Given the description of an element on the screen output the (x, y) to click on. 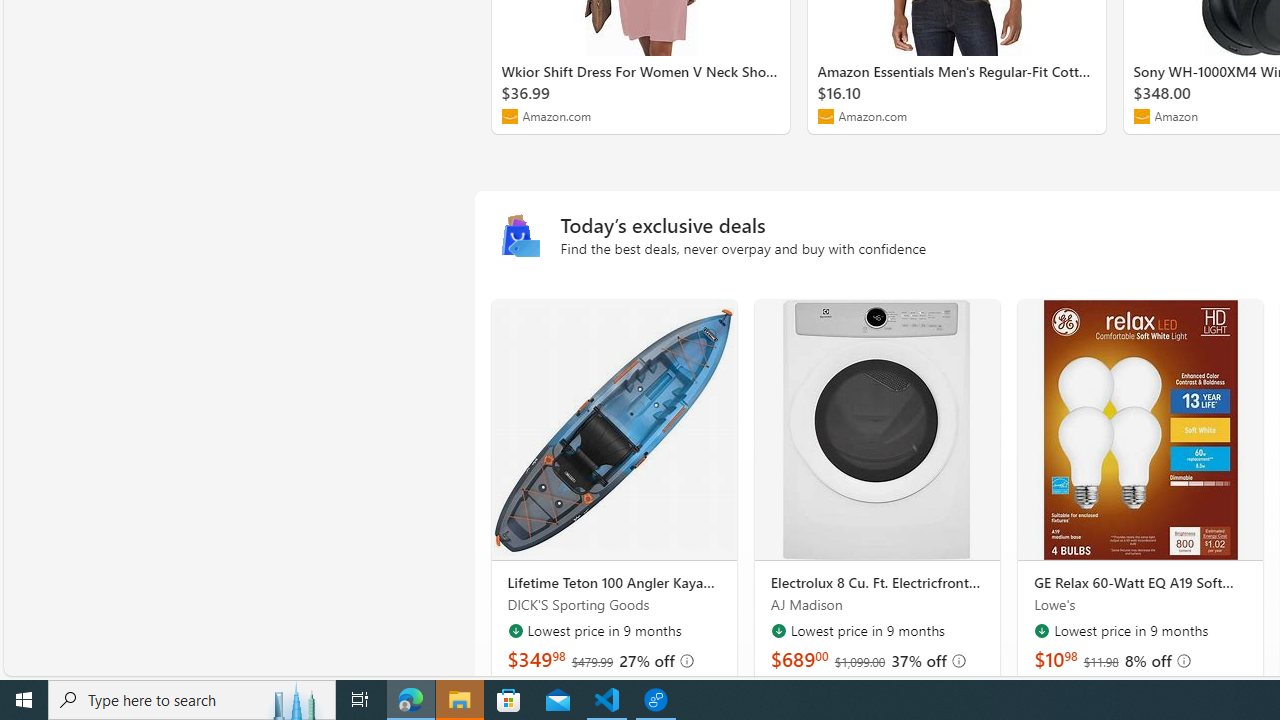
Lowest price in 9 months (1042, 630)
info (1183, 660)
Electrolux 8 Cu. Ft. Electricfront Load Dryer EFDE317TIW (877, 430)
Electrolux 8 Cu. Ft. Electricfront Load Dryer EFDE317TIW (877, 583)
Electrolux 8 Cu. Ft. Electricfront Load Dryer EFDE317TIW (876, 430)
Deals icon (520, 237)
